Given the description of an element on the screen output the (x, y) to click on. 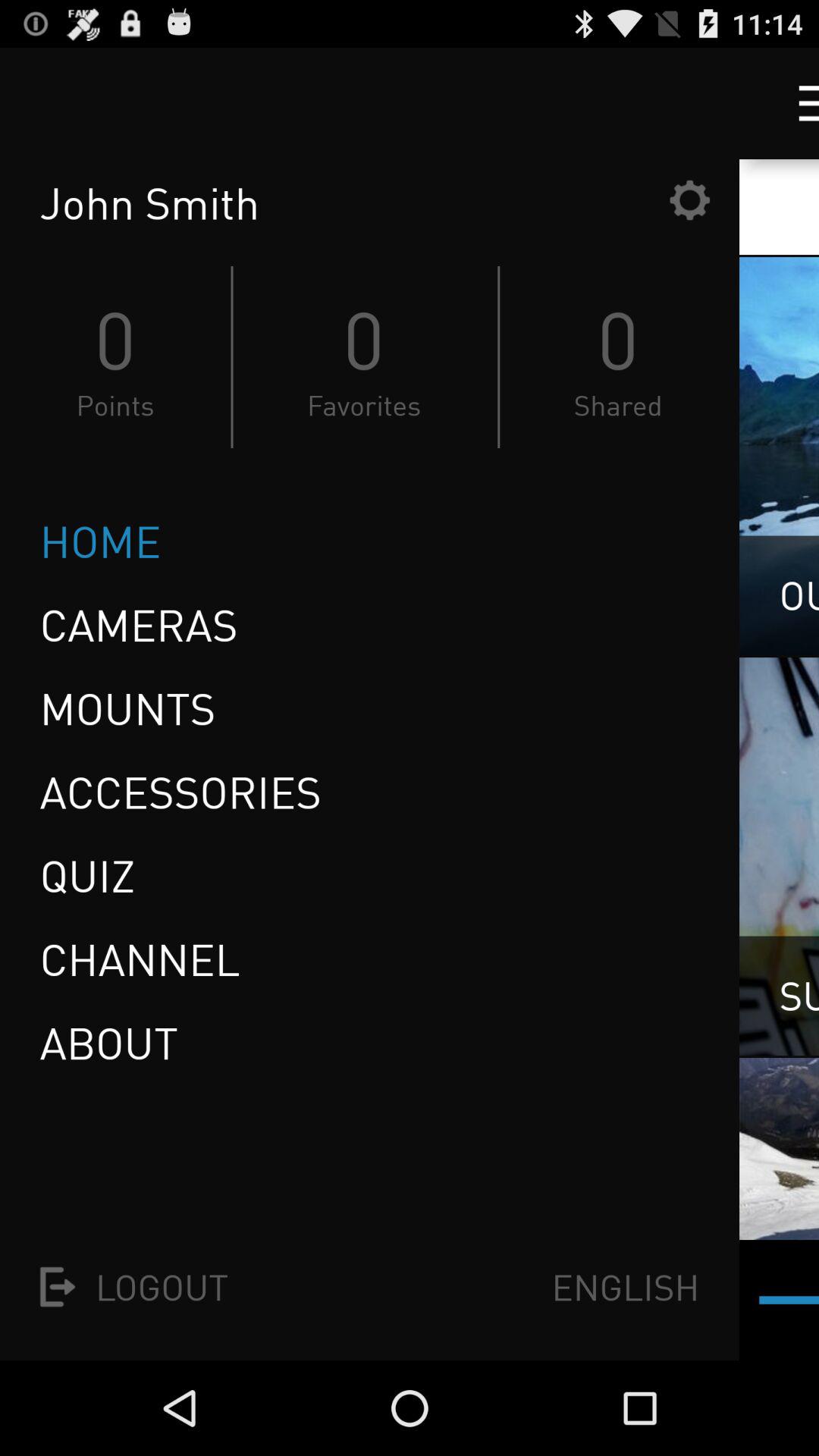
open settings (689, 199)
